Given the description of an element on the screen output the (x, y) to click on. 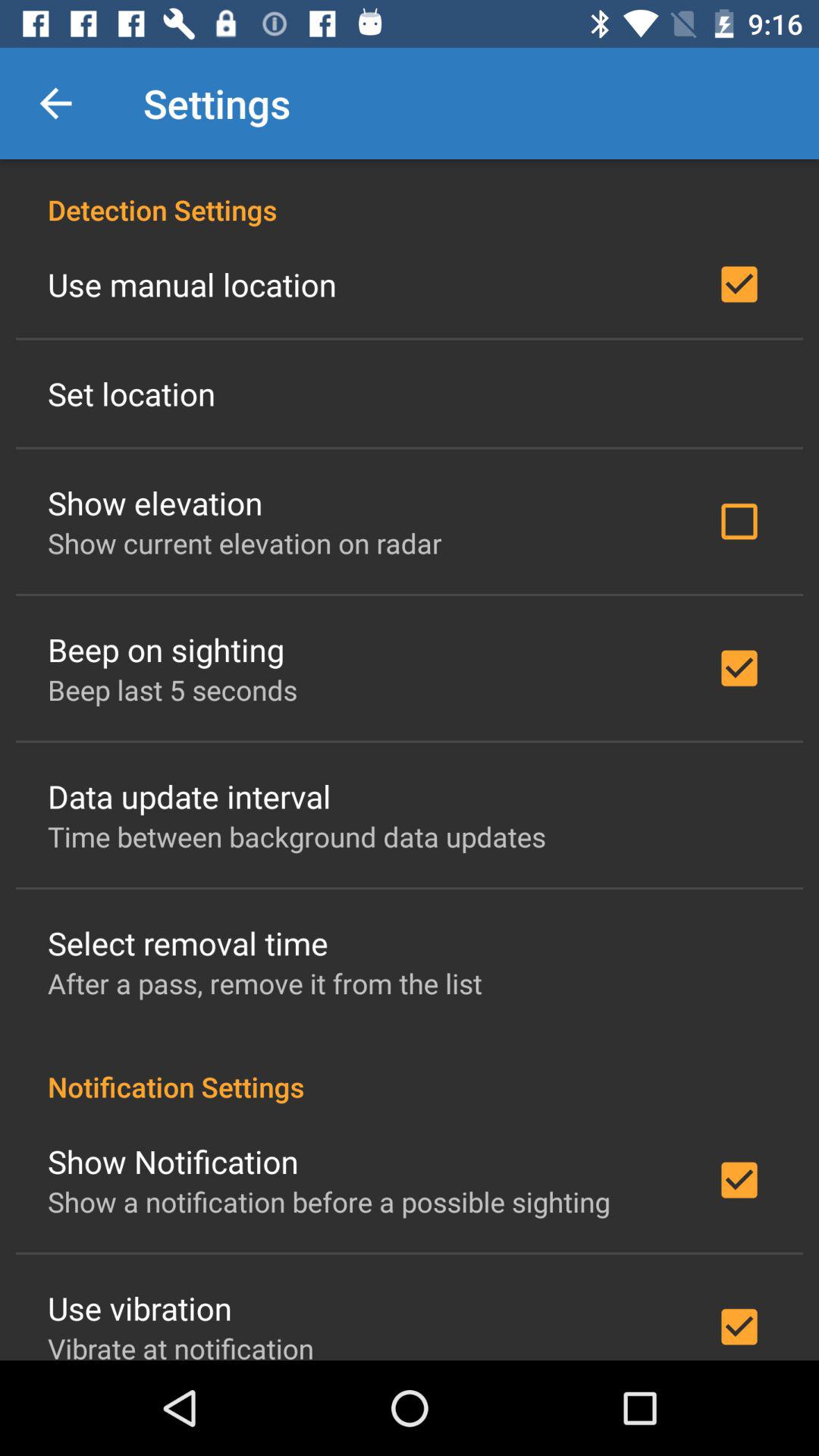
select the set location (131, 393)
